Given the description of an element on the screen output the (x, y) to click on. 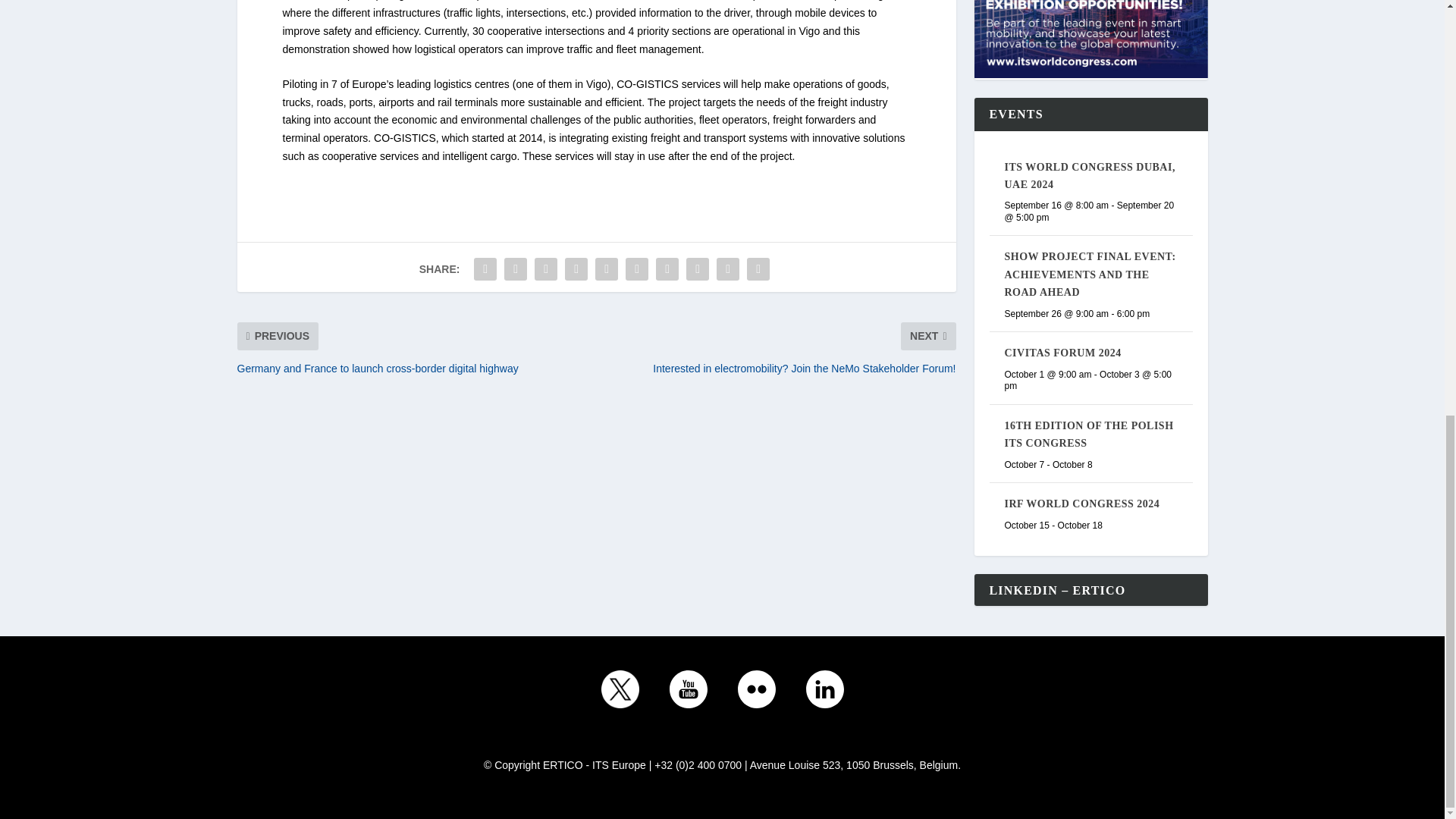
CIVITAS FORUM 2024 (1062, 352)
SHOW PROJECT FINAL EVENT: ACHIEVEMENTS AND THE ROAD AHEAD (1089, 274)
ITS WORLD CONGRESS DUBAI, UAE 2024 (1089, 175)
